Given the description of an element on the screen output the (x, y) to click on. 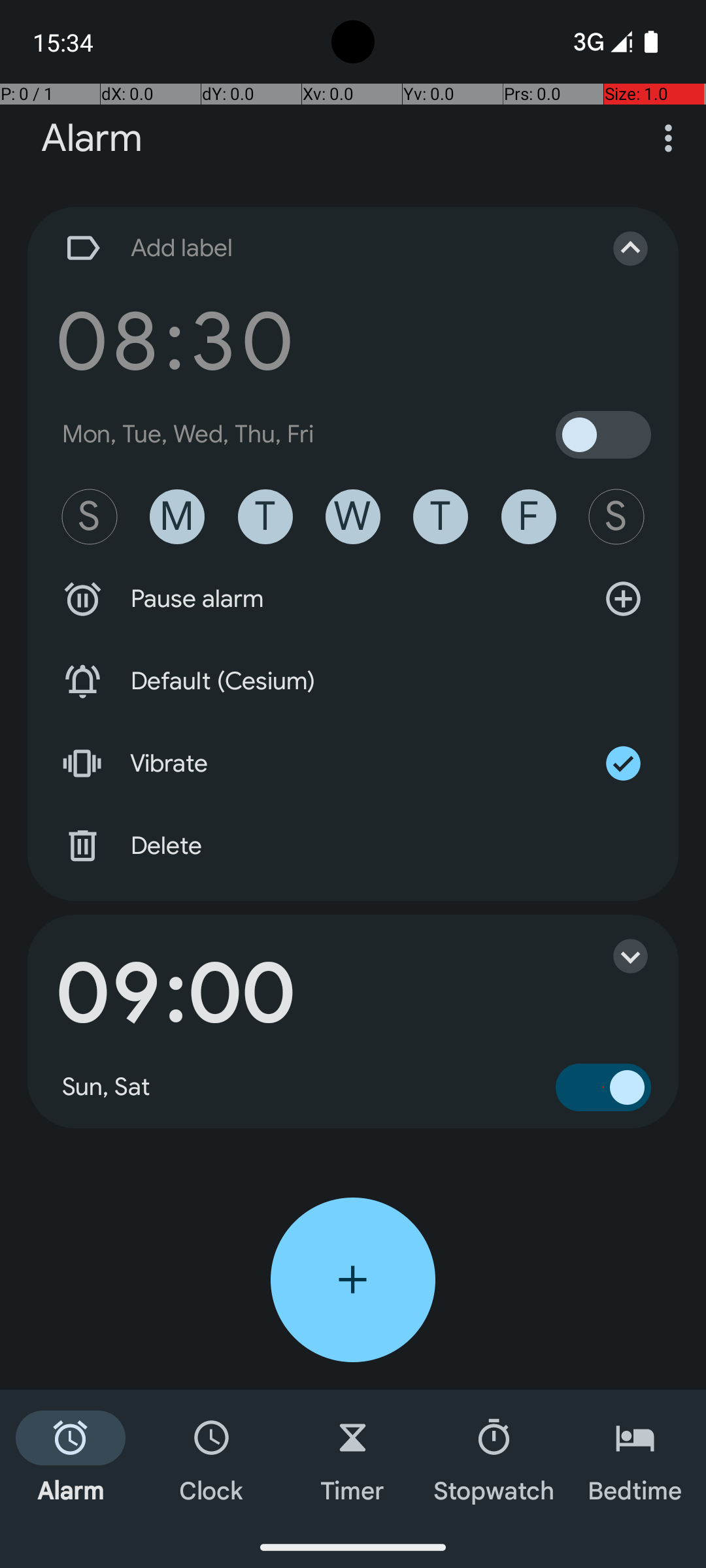
Add alarm Element type: android.widget.Button (352, 1279)
Add label Element type: android.widget.TextView (318, 248)
Collapse alarm Element type: android.widget.ImageButton (616, 248)
08:30 Element type: android.widget.TextView (174, 341)
Mon, Tue, Wed, Thu, Fri Element type: android.widget.TextView (187, 433)
S Element type: android.widget.CheckBox (89, 516)
M Element type: android.widget.CheckBox (176, 516)
T Element type: android.widget.CheckBox (265, 516)
W Element type: android.widget.CheckBox (352, 516)
F Element type: android.widget.CheckBox (528, 516)
Pause alarm Element type: android.widget.TextView (352, 598)
Default (Cesium) Element type: android.widget.TextView (352, 681)
Vibrate Element type: android.widget.CheckBox (352, 763)
09:00 Element type: android.widget.TextView (174, 993)
Expand alarm Element type: android.widget.ImageButton (616, 955)
Sun, Sat Element type: android.widget.TextView (106, 1086)
